Given the description of an element on the screen output the (x, y) to click on. 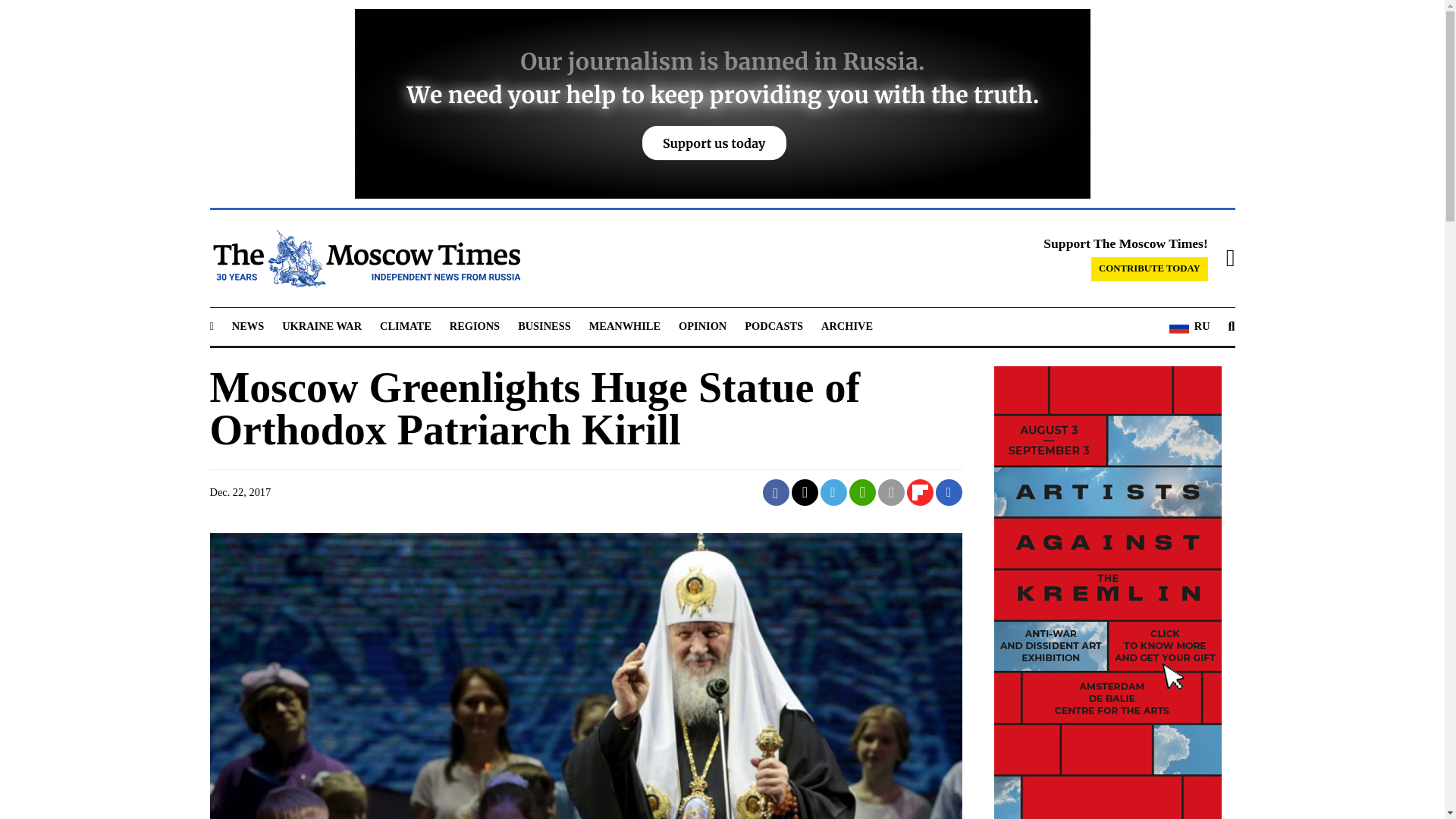
Share on Telegram (834, 492)
PODCASTS (773, 326)
UKRAINE WAR (321, 326)
Share on Facebook (775, 492)
OPINION (702, 326)
NEWS (247, 326)
CONTRIBUTE TODAY (1149, 269)
MEANWHILE (625, 326)
RU (1189, 326)
BUSINESS (544, 326)
CLIMATE (405, 326)
ARCHIVE (846, 326)
The Moscow Times - Independent News from Russia (364, 258)
REGIONS (474, 326)
Share on Flipboard (920, 492)
